Given the description of an element on the screen output the (x, y) to click on. 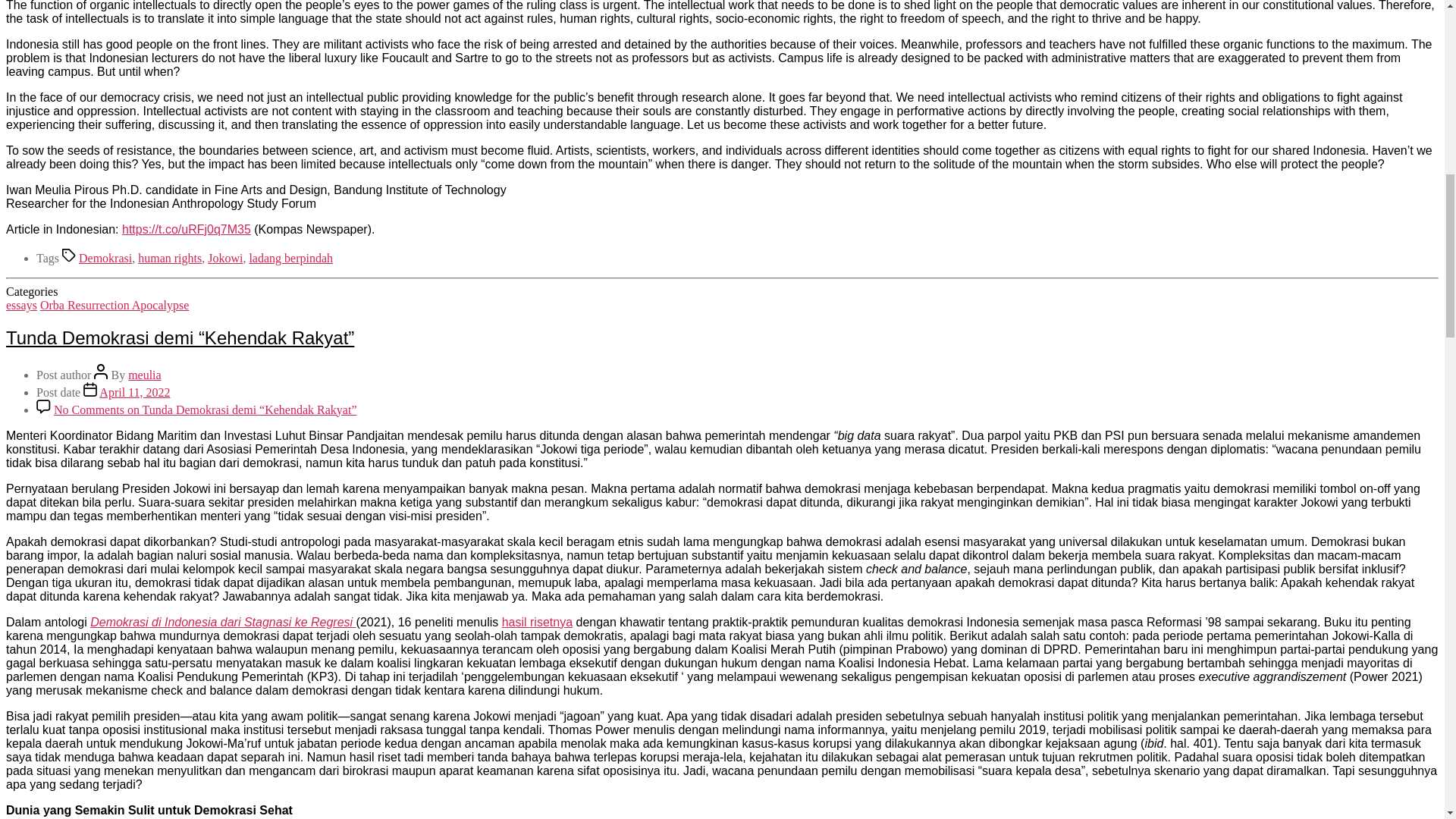
ladang berpindah (290, 257)
Jokowi (225, 257)
Demokrasi (105, 257)
hasil risetnya (537, 621)
Orba Resurrection Apocalypse (114, 305)
Demokrasi di Indonesia dari Stagnasi ke Regresi (222, 621)
essays (21, 305)
meulia (144, 374)
April 11, 2022 (134, 391)
human rights (170, 257)
